Given the description of an element on the screen output the (x, y) to click on. 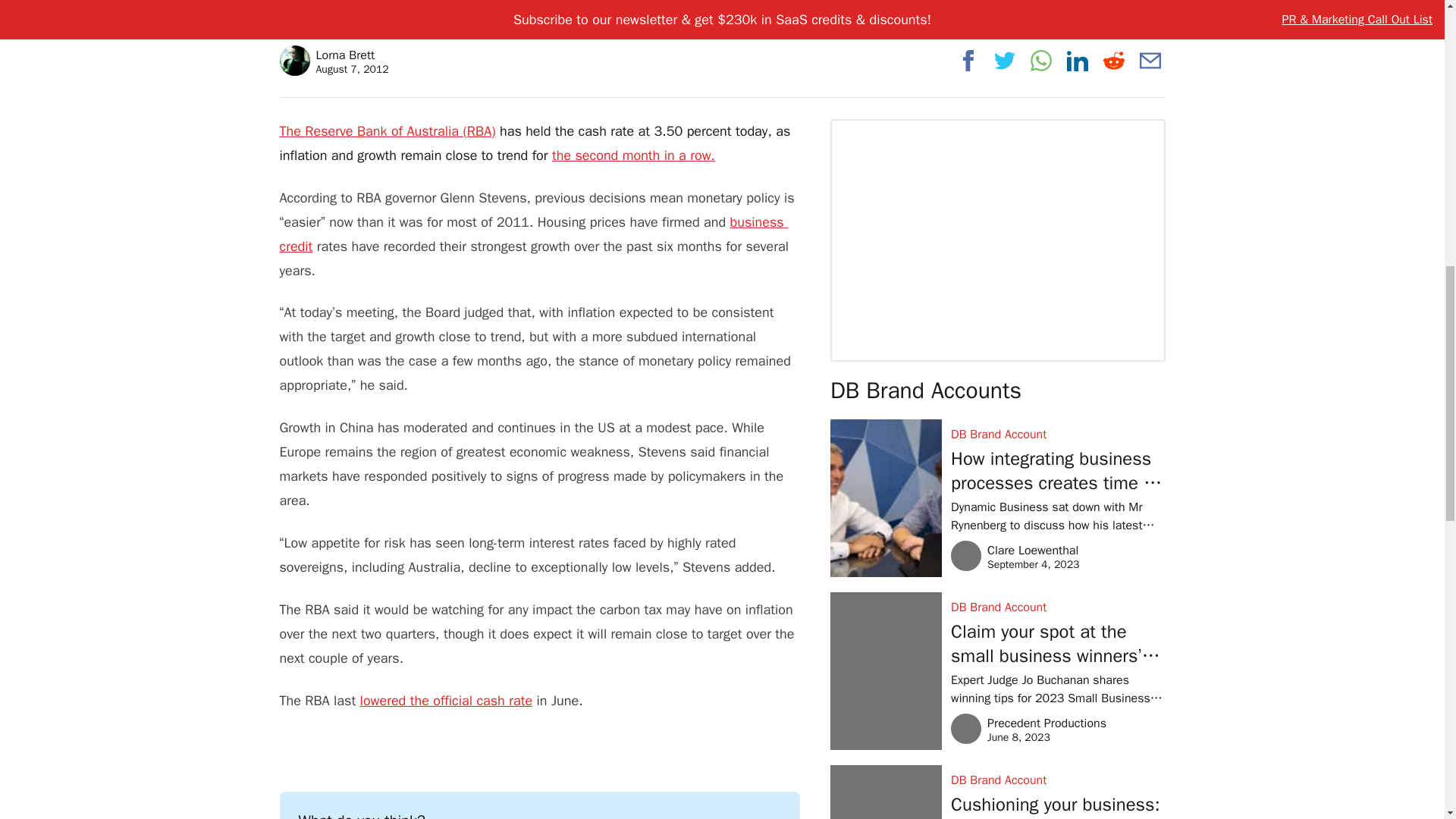
lowered the official cash rate (445, 700)
the second month in a row. (333, 60)
business credit (632, 155)
